Given the description of an element on the screen output the (x, y) to click on. 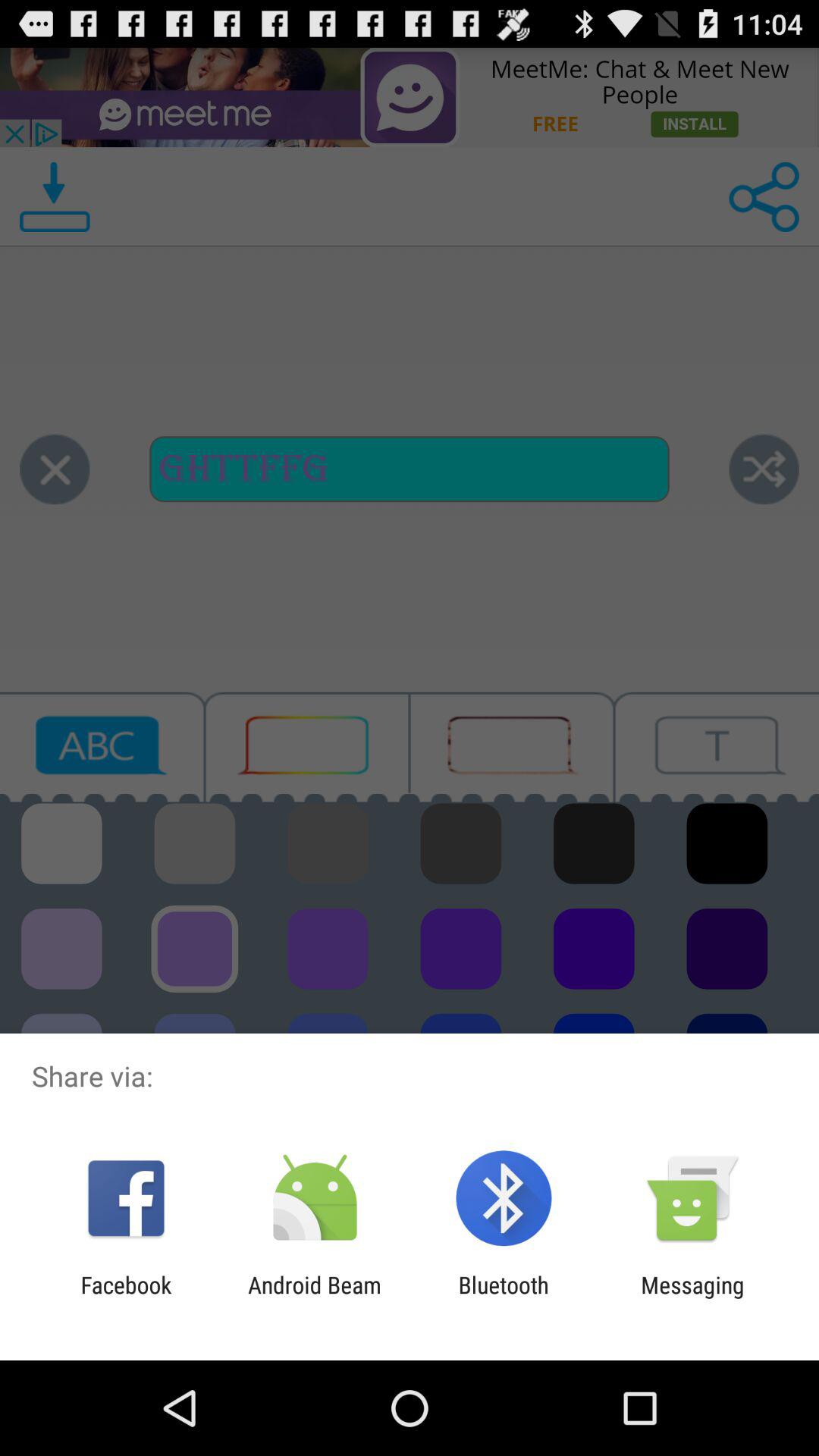
press app to the left of the android beam app (125, 1298)
